Given the description of an element on the screen output the (x, y) to click on. 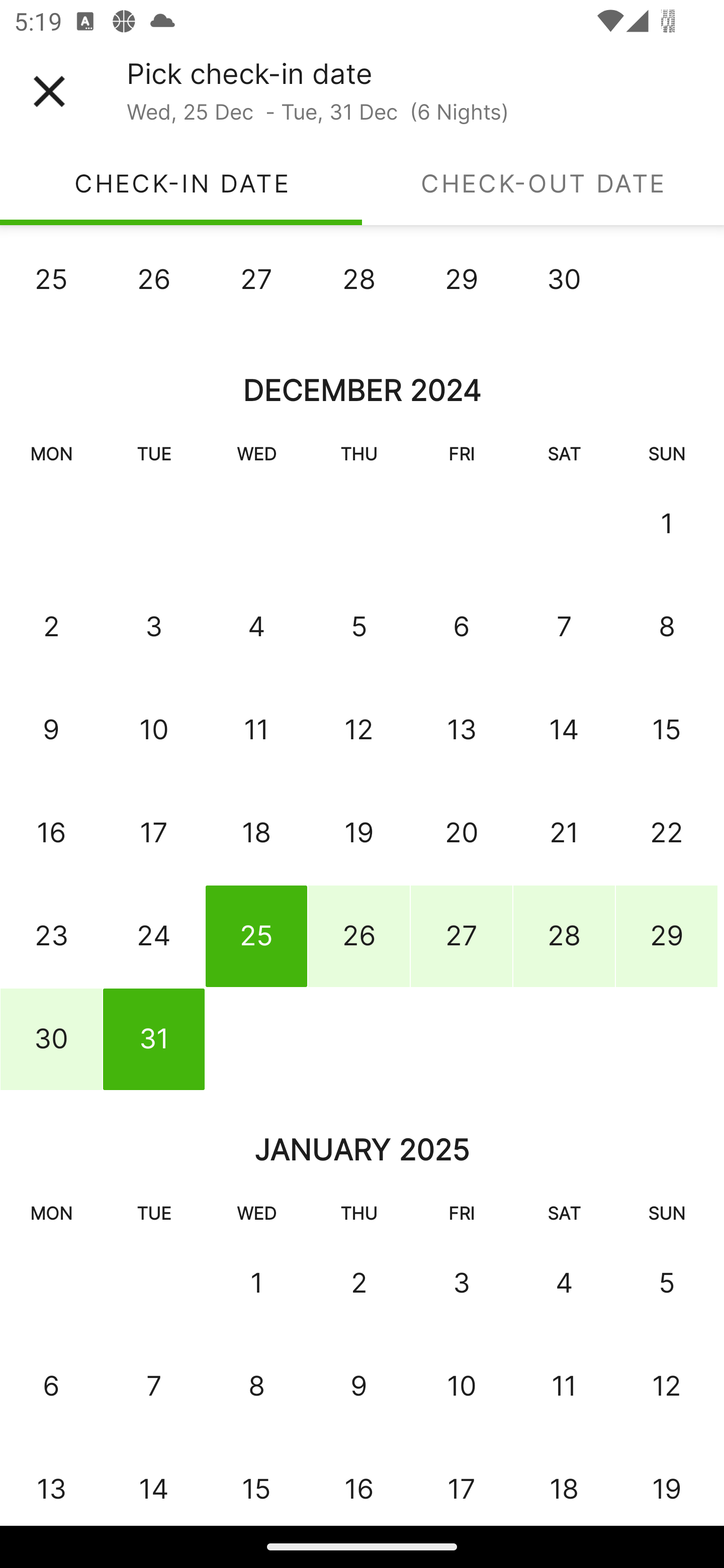
Check-out Date CHECK-OUT DATE (543, 183)
